Given the description of an element on the screen output the (x, y) to click on. 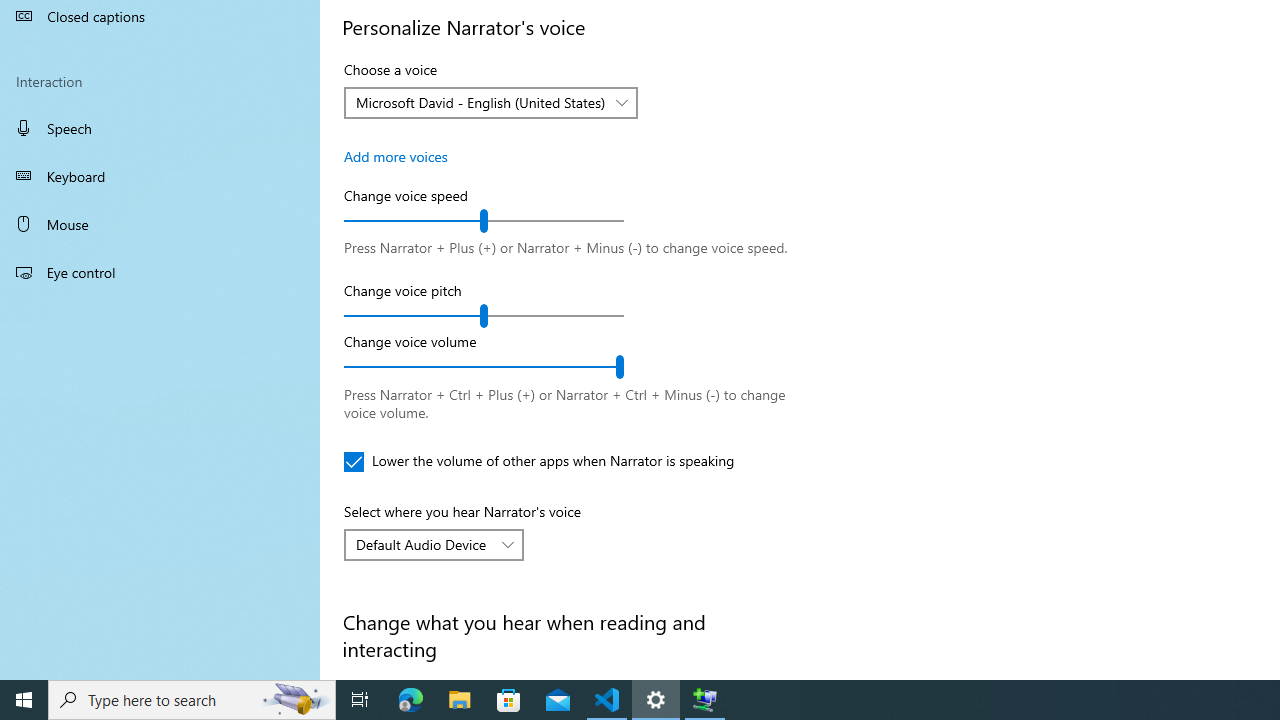
Mouse (160, 223)
Eye control (160, 271)
Change voice speed (484, 220)
Microsoft David - English (United States) (480, 102)
Extensible Wizards Host Process - 1 running window (704, 699)
Type here to search (191, 699)
Search highlights icon opens search home window (295, 699)
Microsoft Edge (411, 699)
Change voice pitch (484, 315)
